Given the description of an element on the screen output the (x, y) to click on. 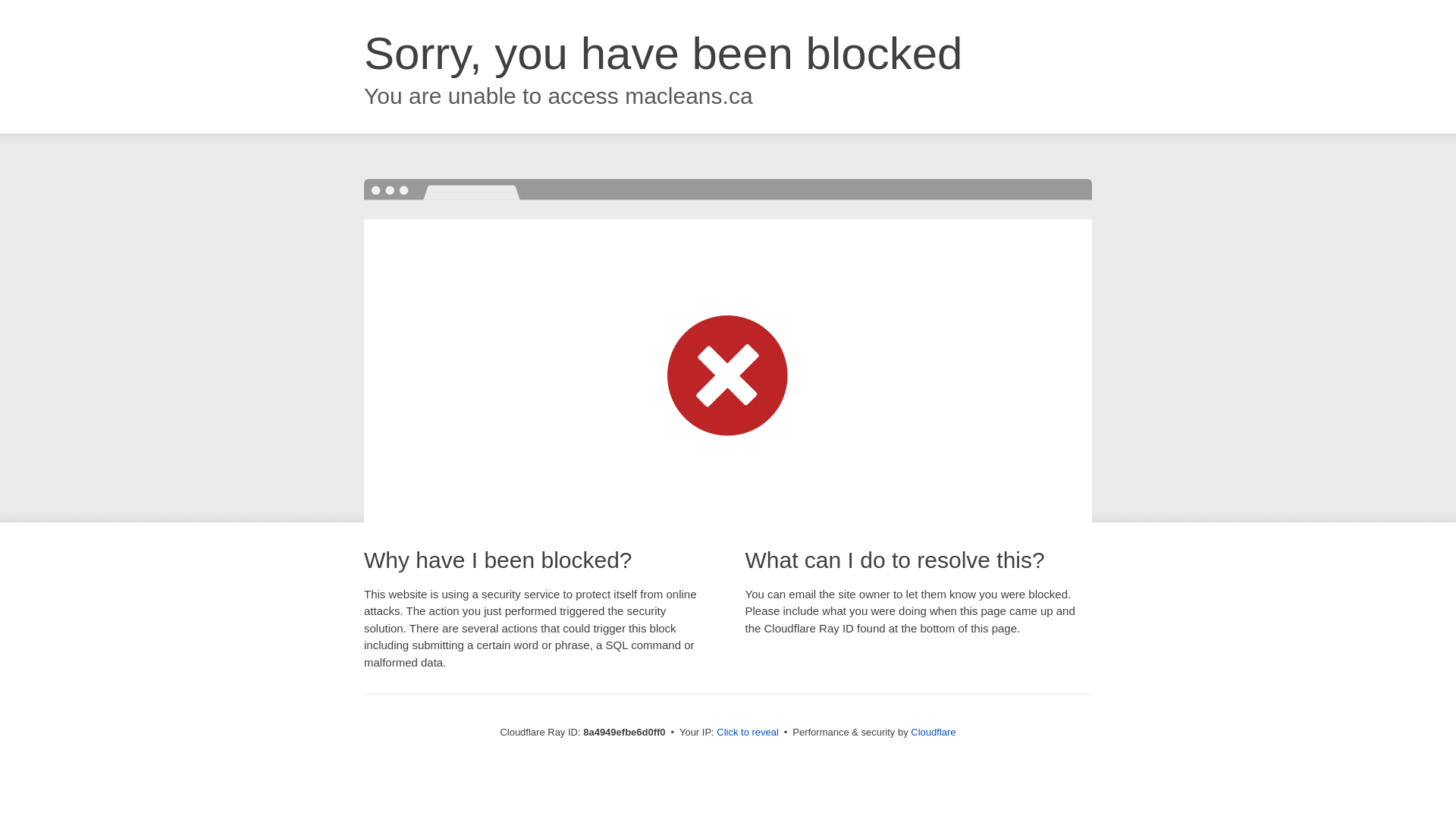
Cloudflare (933, 731)
Click to reveal (747, 732)
